Given the description of an element on the screen output the (x, y) to click on. 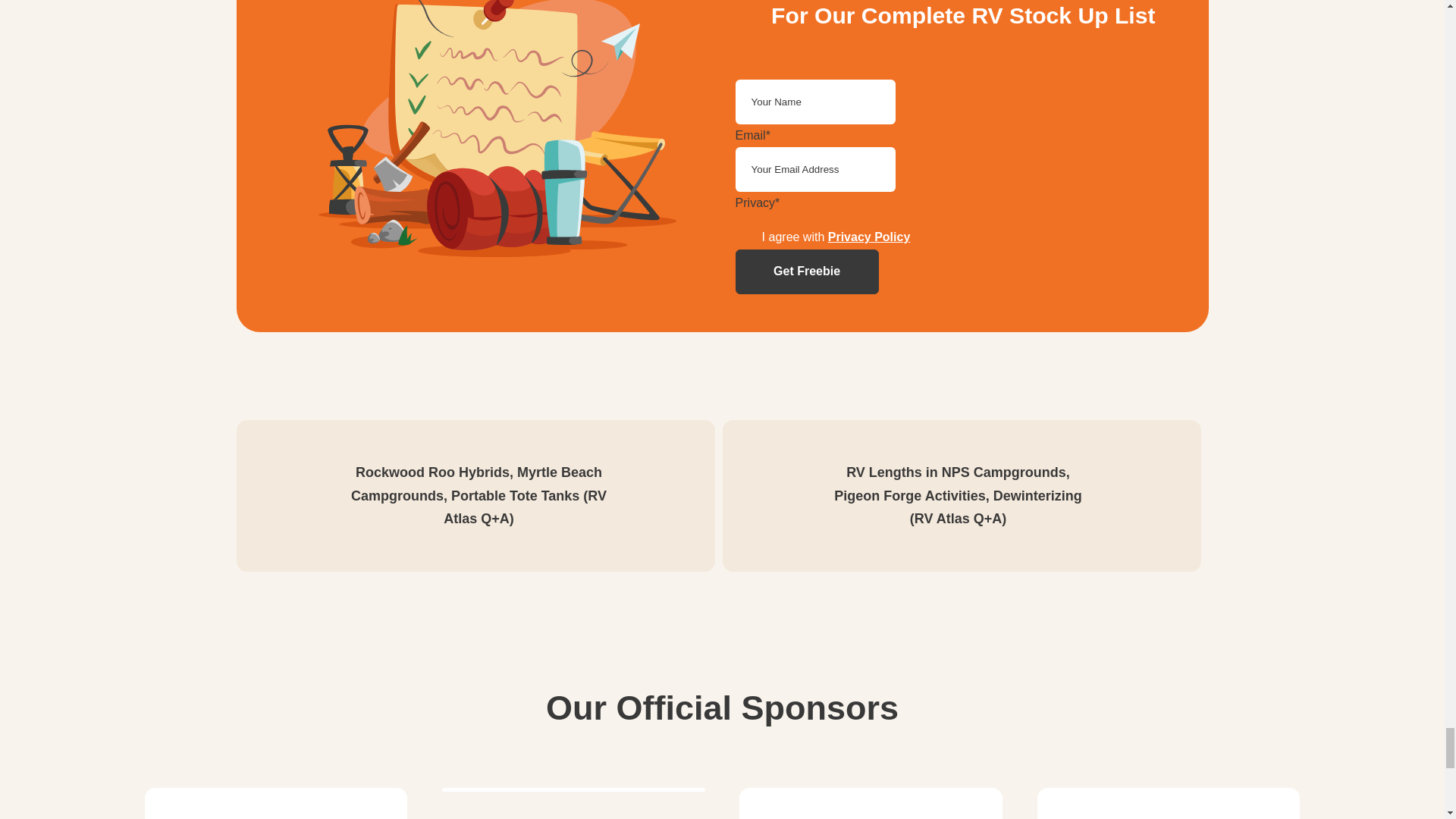
camco (275, 803)
newsletter (498, 132)
Get Freebie (807, 271)
